Given the description of an element on the screen output the (x, y) to click on. 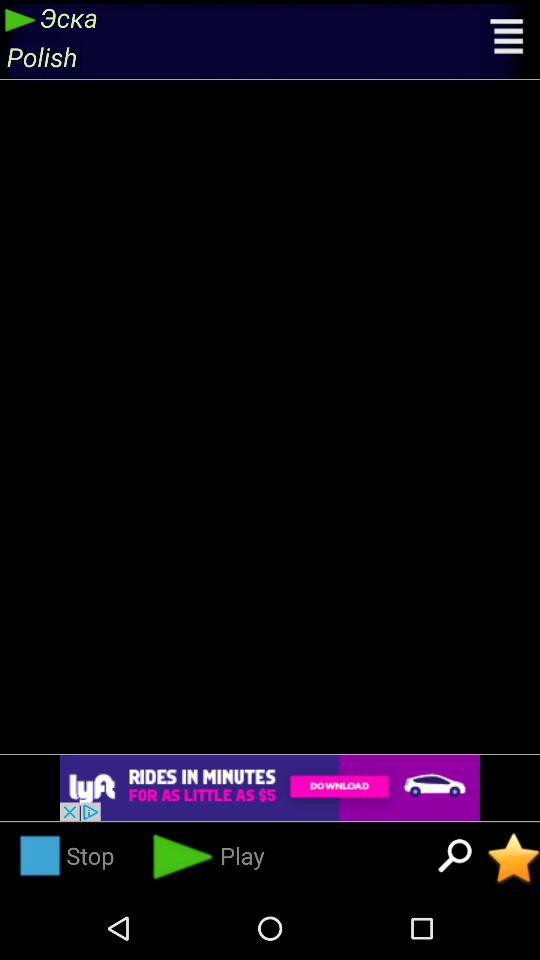
view advertisement (270, 787)
